Given the description of an element on the screen output the (x, y) to click on. 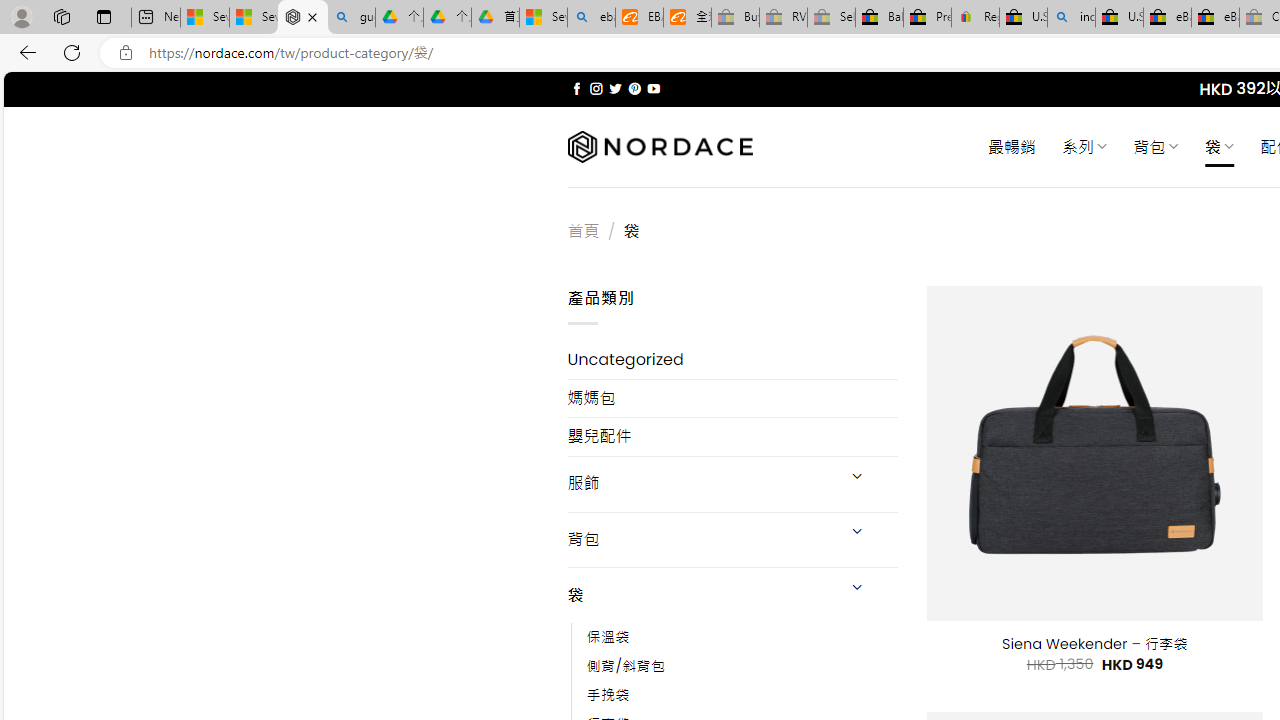
Uncategorized (732, 359)
Buy Auto Parts & Accessories | eBay - Sleeping (735, 17)
Press Room - eBay Inc. (927, 17)
